Given the description of an element on the screen output the (x, y) to click on. 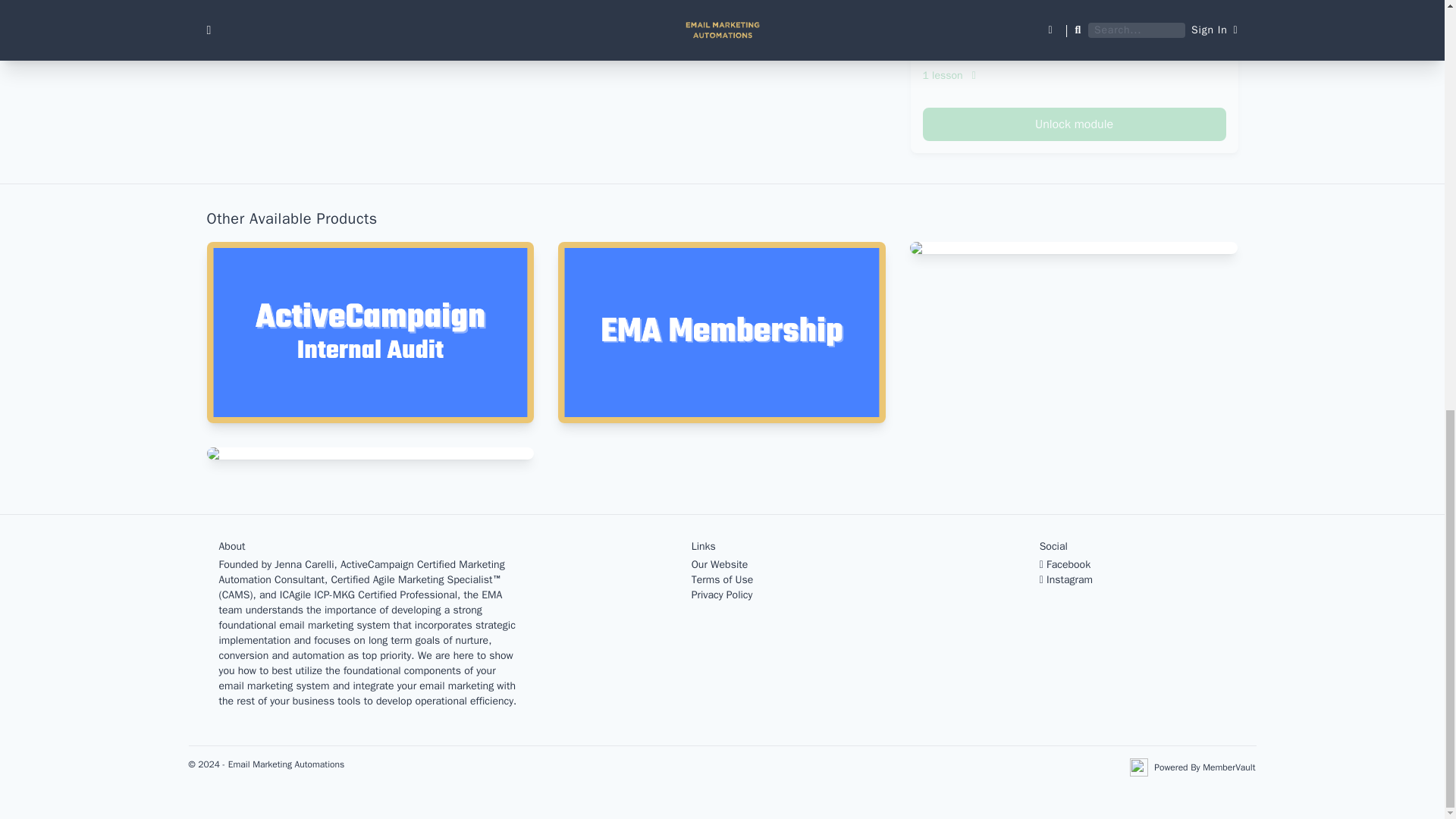
Sign up (827, 28)
Unlock module (1074, 123)
1 lesson (1074, 75)
